Given the description of an element on the screen output the (x, y) to click on. 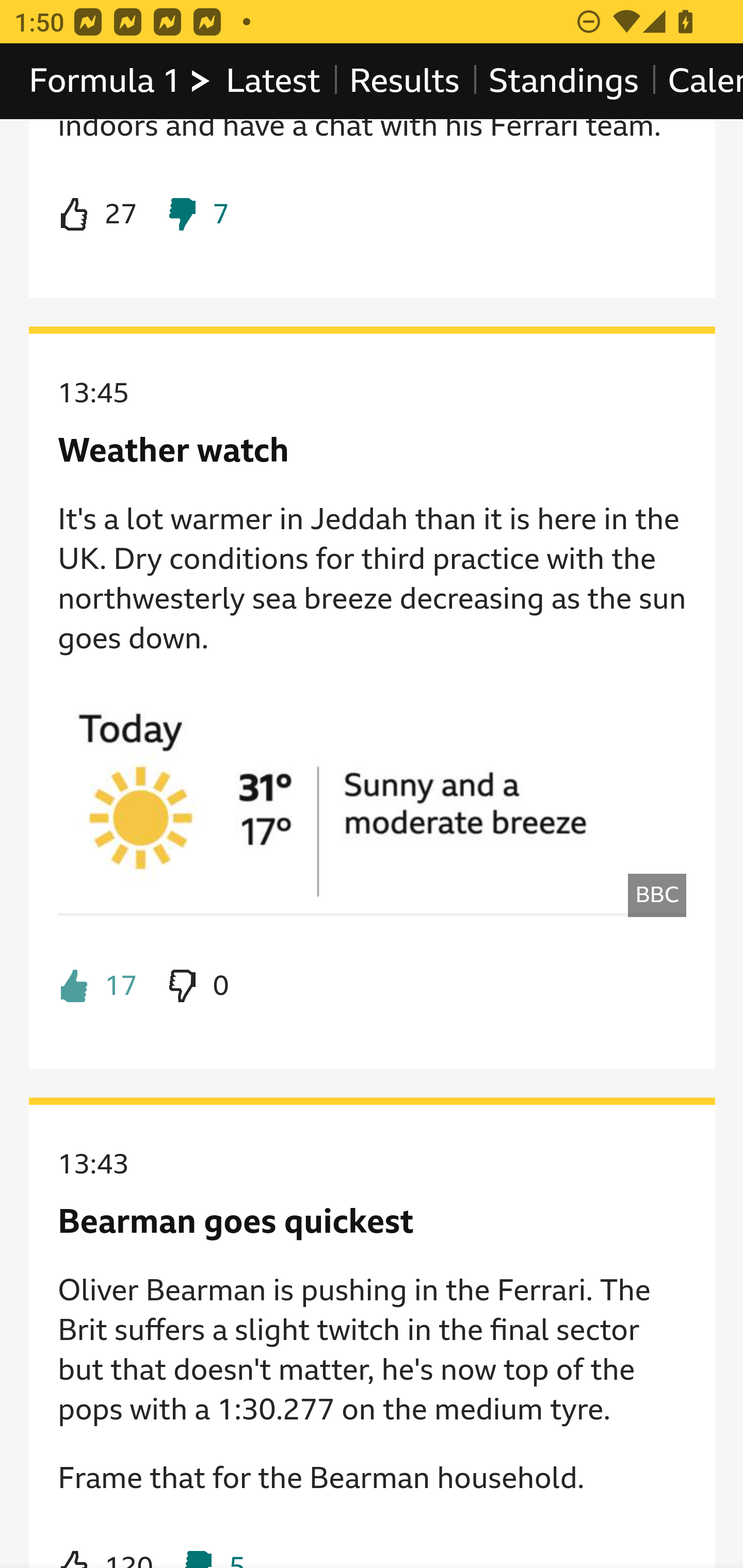
Like (97, 214)
Disliked (196, 214)
Liked (97, 986)
Dislike (196, 986)
Like (105, 1547)
Disliked (212, 1547)
